Given the description of an element on the screen output the (x, y) to click on. 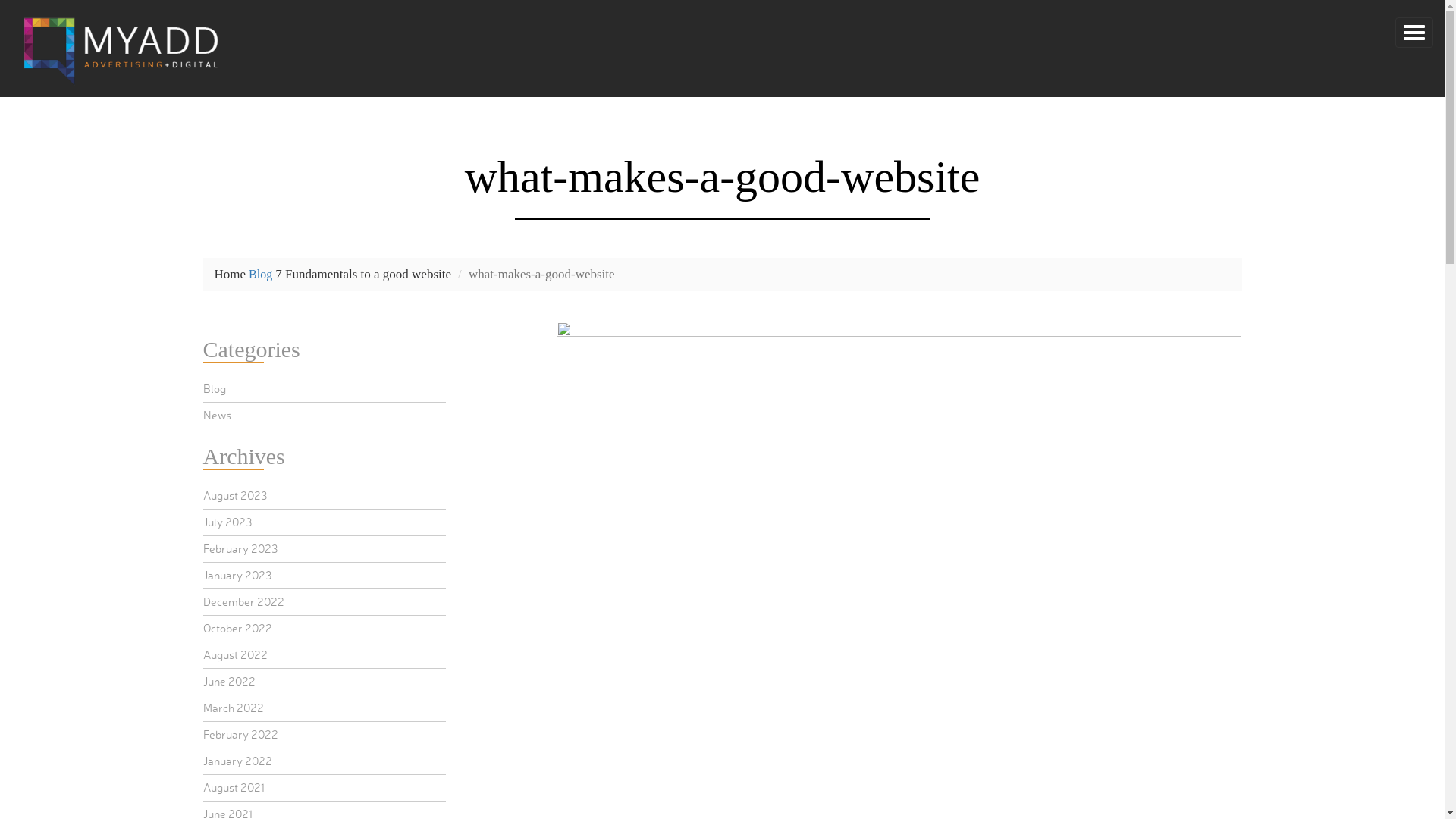
March 2022 Element type: text (233, 707)
August 2021 Element type: text (233, 787)
Toggle navigation Element type: text (1414, 32)
July 2023 Element type: text (227, 521)
October 2022 Element type: text (237, 628)
Home Element type: text (229, 273)
News Element type: text (217, 414)
June 2022 Element type: text (229, 681)
7 Fundamentals to a good website Element type: text (363, 273)
August 2022 Element type: text (235, 654)
December 2022 Element type: text (243, 601)
February 2023 Element type: text (240, 548)
January 2023 Element type: text (237, 574)
February 2022 Element type: text (240, 734)
Blog Element type: text (260, 273)
Blog Element type: text (214, 388)
August 2023 Element type: text (234, 495)
January 2022 Element type: text (237, 760)
